Given the description of an element on the screen output the (x, y) to click on. 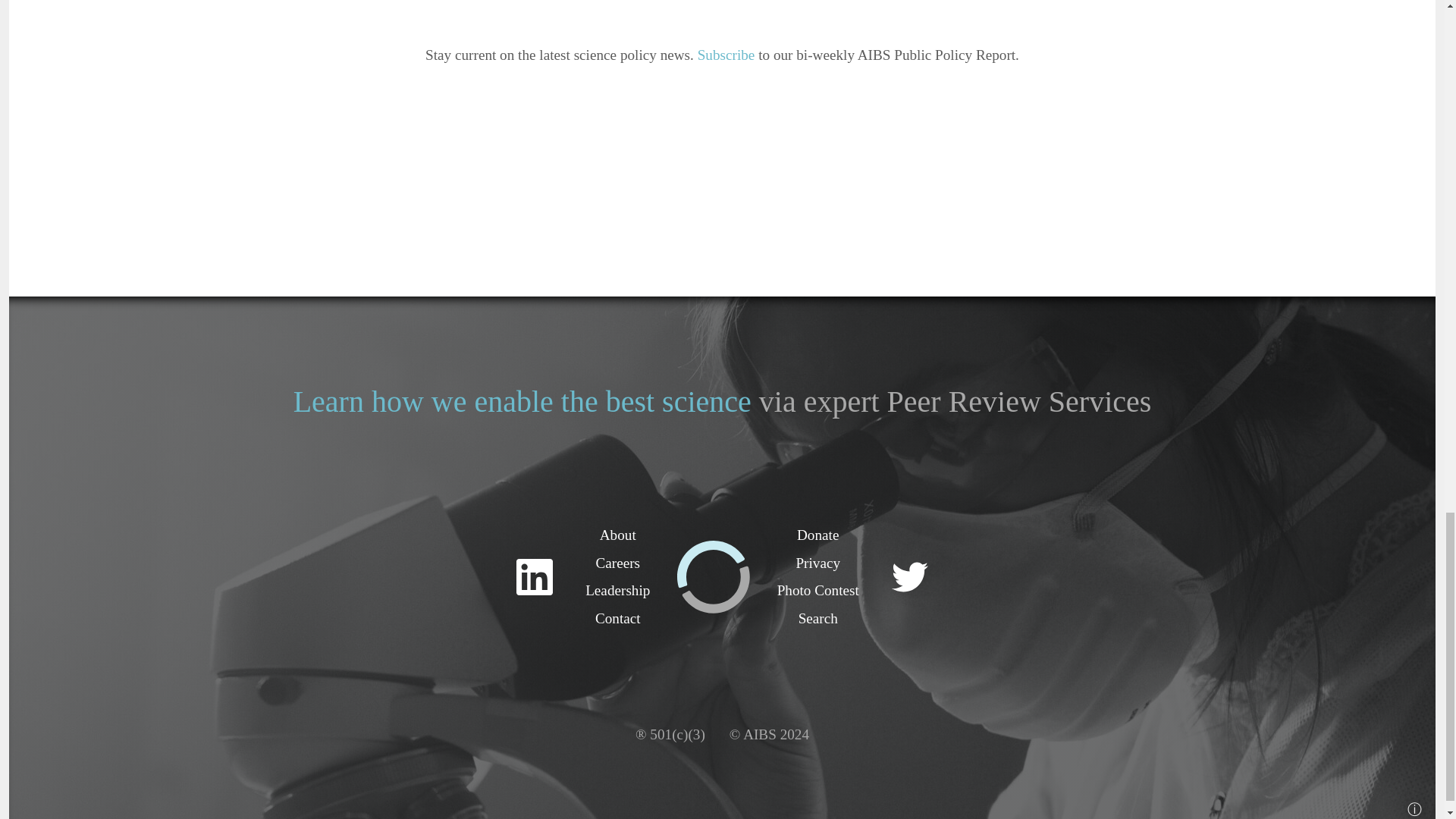
Search (817, 618)
Learn how we enable the best science (522, 401)
Subscribe (726, 54)
Donate (817, 534)
Leadership (617, 590)
Privacy (817, 562)
Photo Contest (818, 590)
Contact (617, 618)
Careers (617, 562)
About (617, 534)
